Given the description of an element on the screen output the (x, y) to click on. 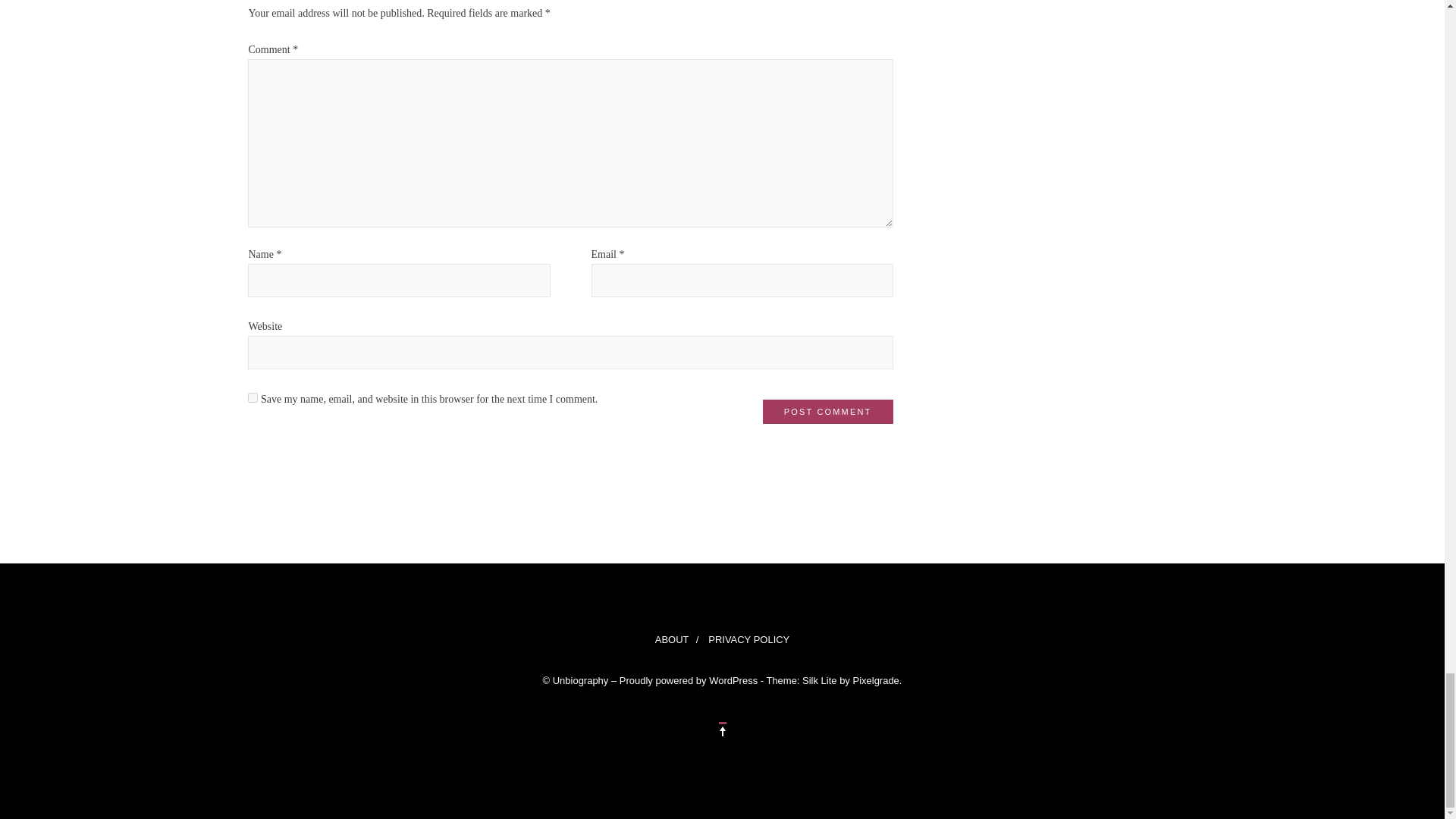
The Pixelgrade Website (874, 680)
Post Comment (827, 411)
PRIVACY POLICY (748, 640)
Pixelgrade (874, 680)
Proudly powered by WordPress (688, 680)
yes (252, 397)
Post Comment (827, 411)
